Given the description of an element on the screen output the (x, y) to click on. 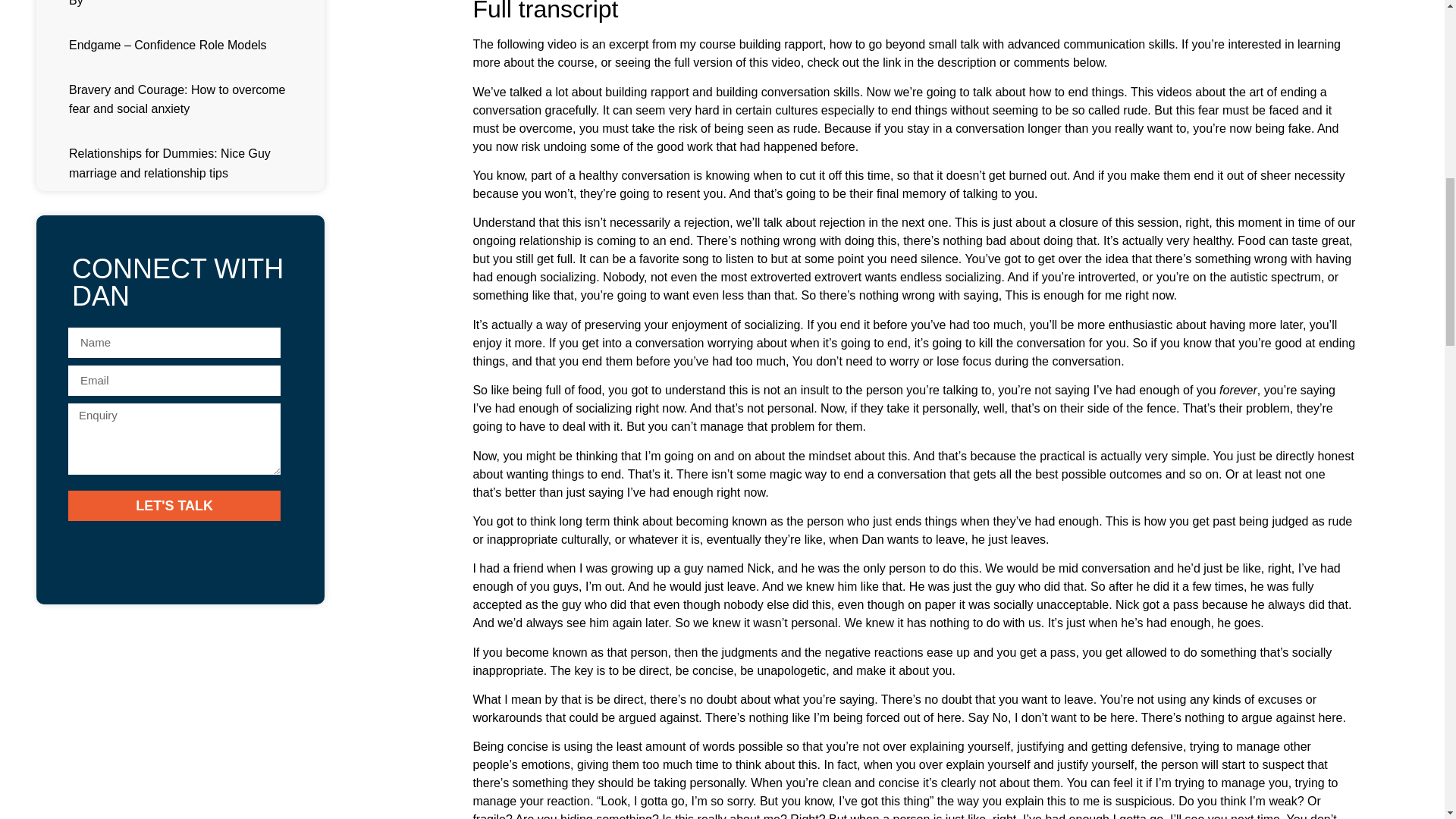
Does asking questions make you a judgmental person? (215, 110)
Group Dynamics: Introvert vs Extrovert (171, 171)
Bravery and Courage: How to overcome fear and social anxiety (236, 551)
Quantum Parts Courage: Definition of Bravery (190, 48)
Finding Your Integrity: Core Values to Live By (188, 489)
